Given the description of an element on the screen output the (x, y) to click on. 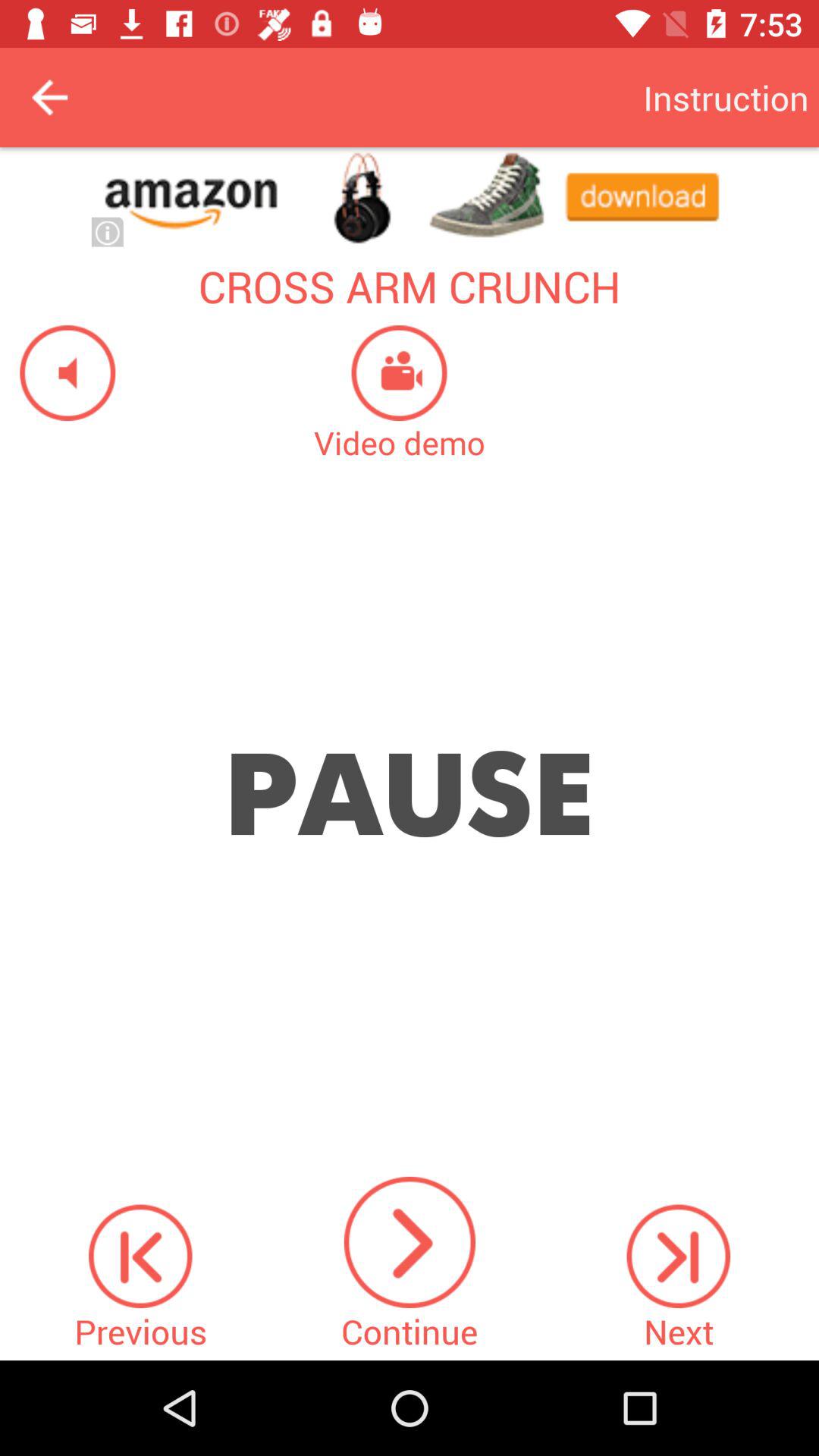
toggle sound (57, 372)
